Given the description of an element on the screen output the (x, y) to click on. 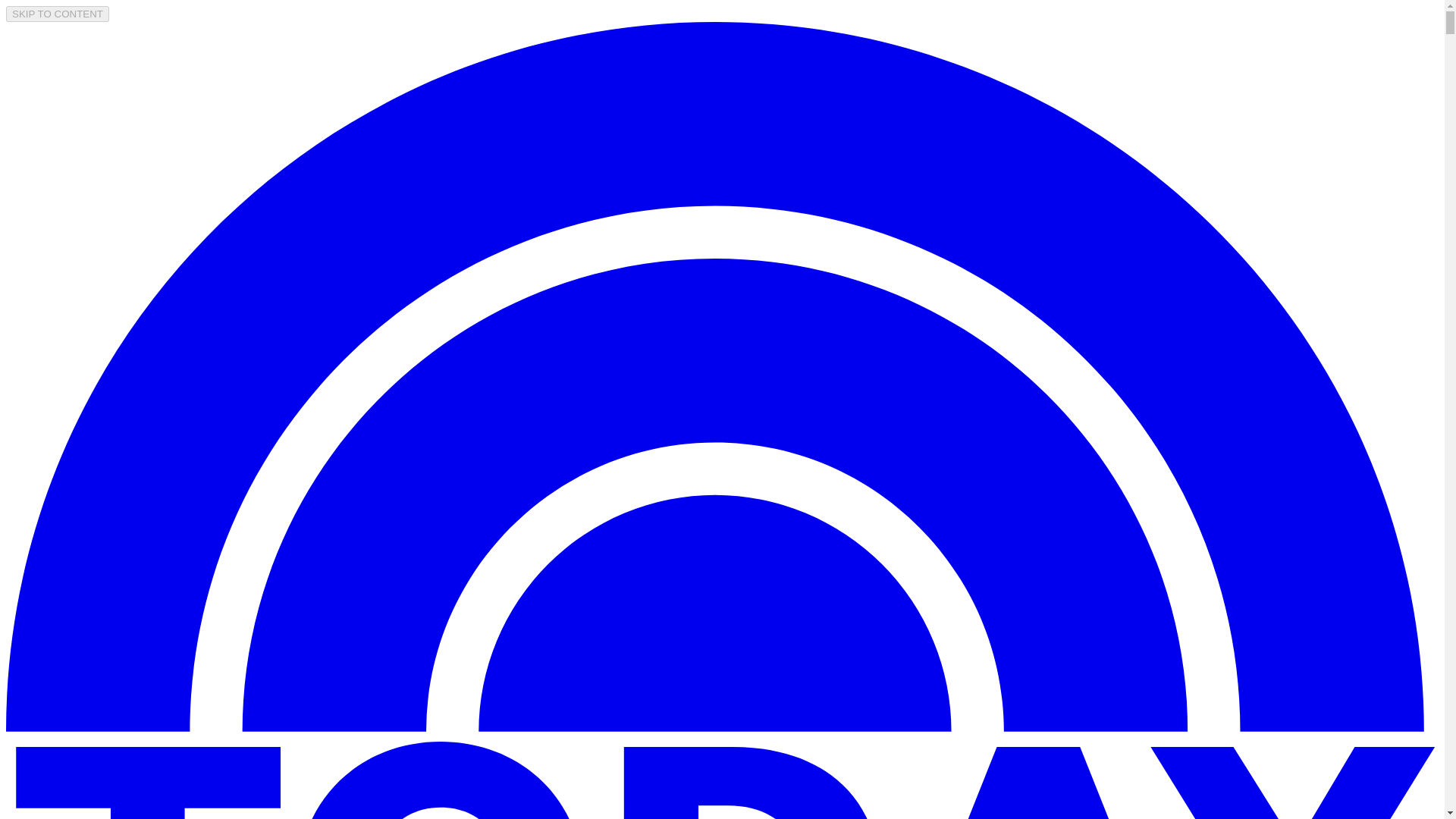
SKIP TO CONTENT (57, 13)
